Given the description of an element on the screen output the (x, y) to click on. 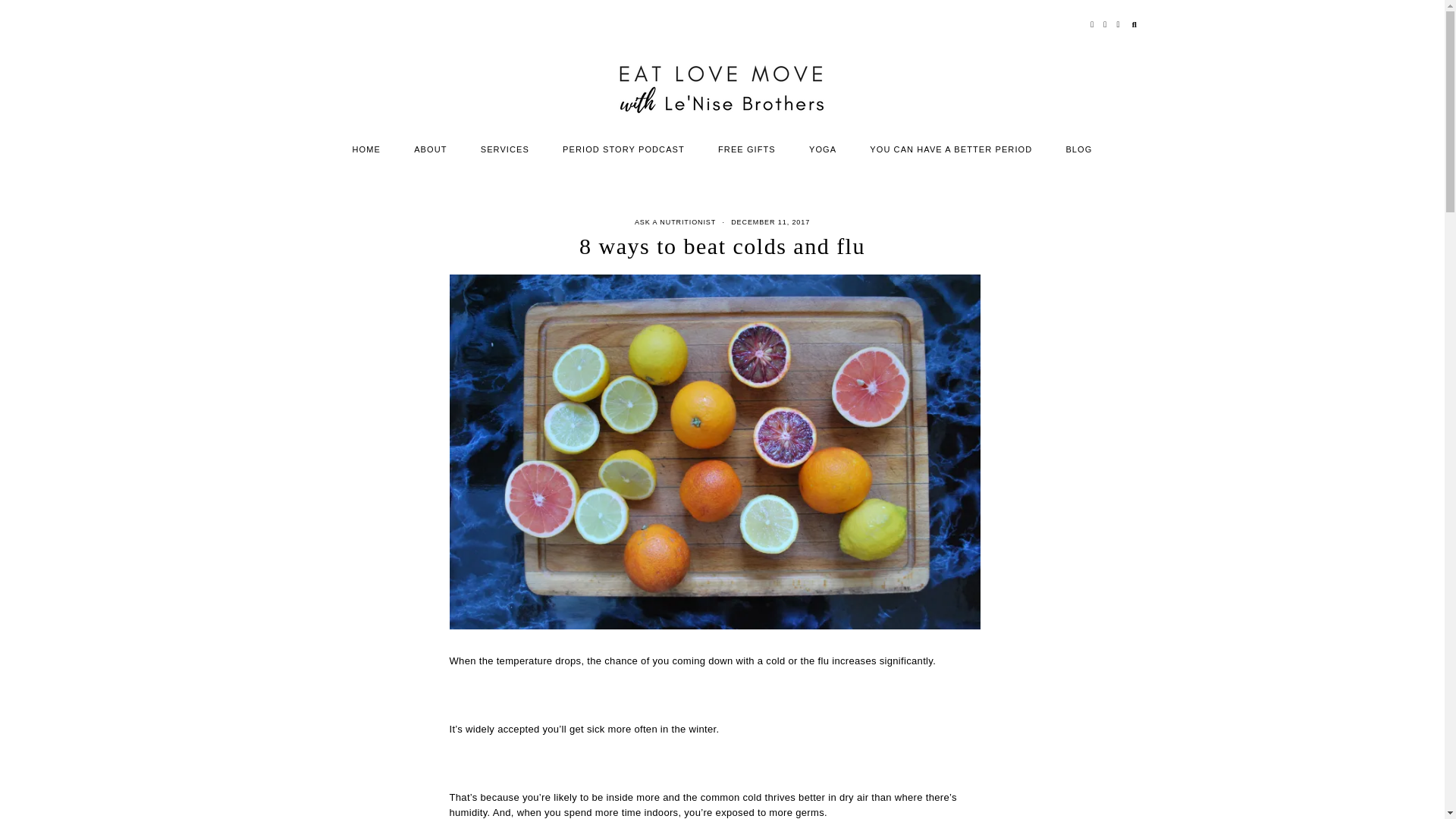
View all posts in Ask A Nutritionist (675, 222)
